Given the description of an element on the screen output the (x, y) to click on. 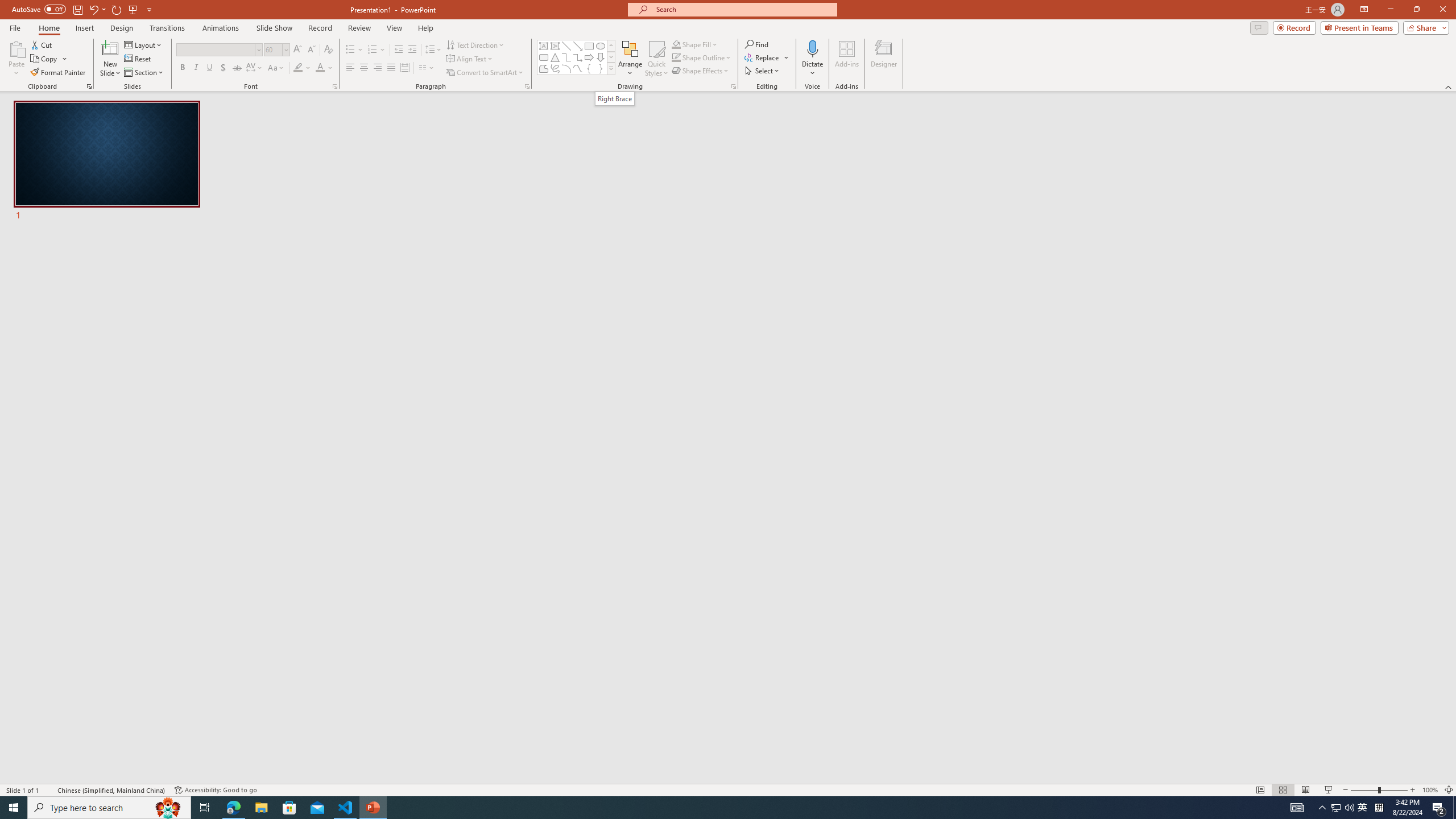
Zoom 100% (1430, 790)
Clear Formatting (327, 49)
